Given the description of an element on the screen output the (x, y) to click on. 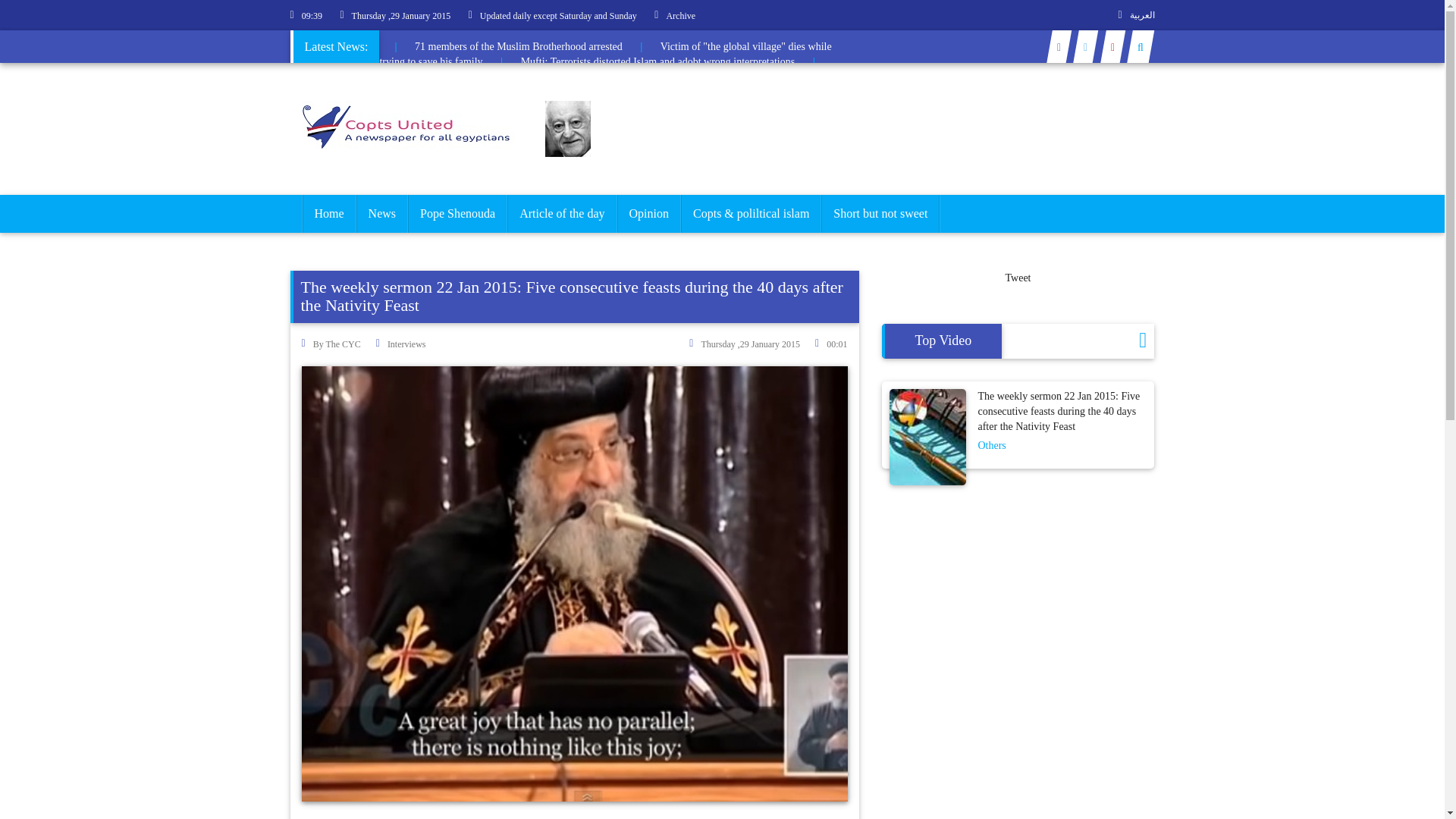
Tweet (1017, 278)
Short but not sweet (880, 213)
Pope Shenouda (457, 213)
Opinion (648, 213)
Article of the day (561, 213)
Home (328, 213)
News (381, 213)
